Given the description of an element on the screen output the (x, y) to click on. 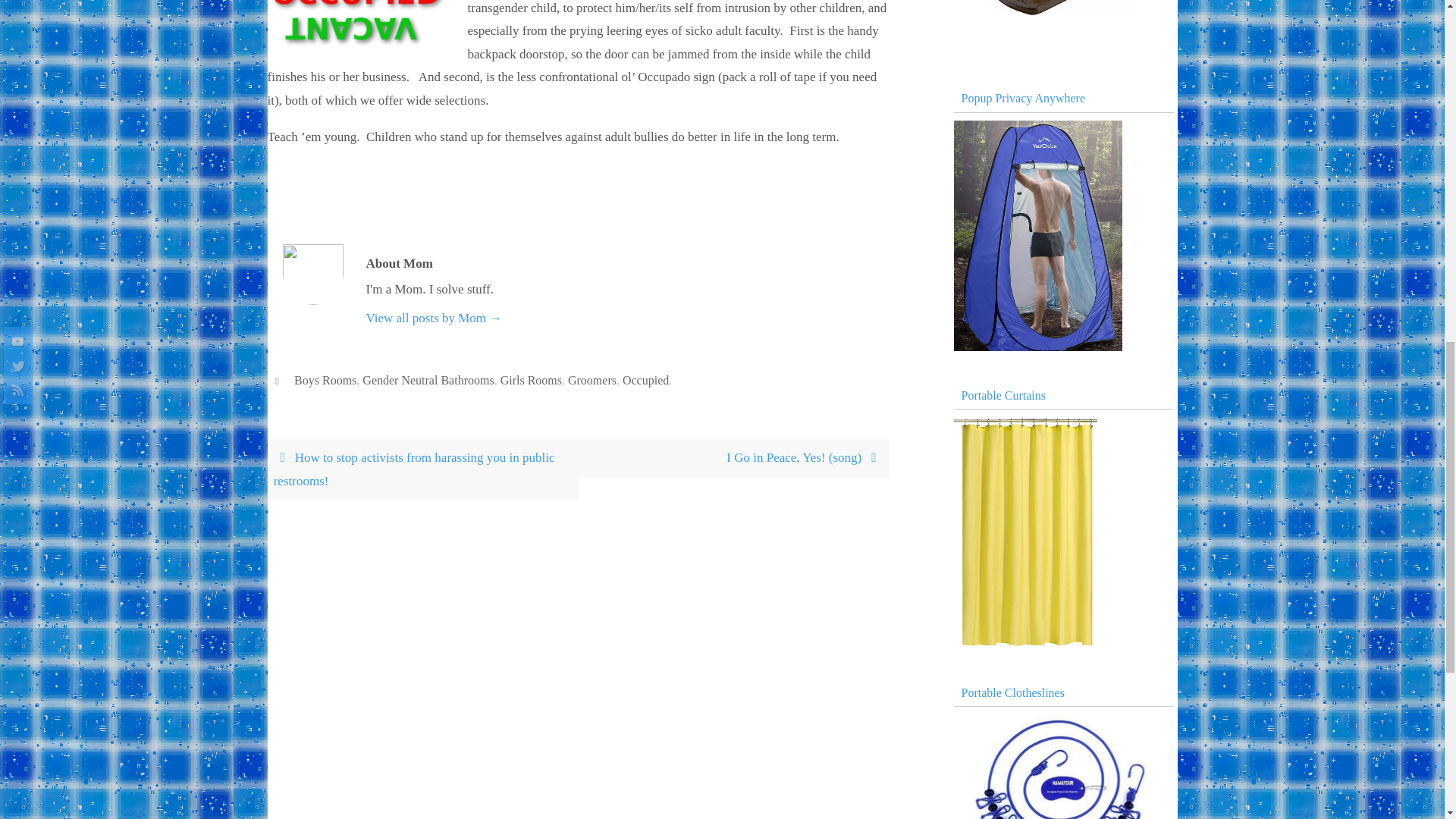
Tagged (278, 379)
Girls Rooms (531, 380)
Occupied (645, 380)
Groomers (591, 380)
Boys Rooms (325, 380)
Gender Neutral Bathrooms (427, 380)
